Given the description of an element on the screen output the (x, y) to click on. 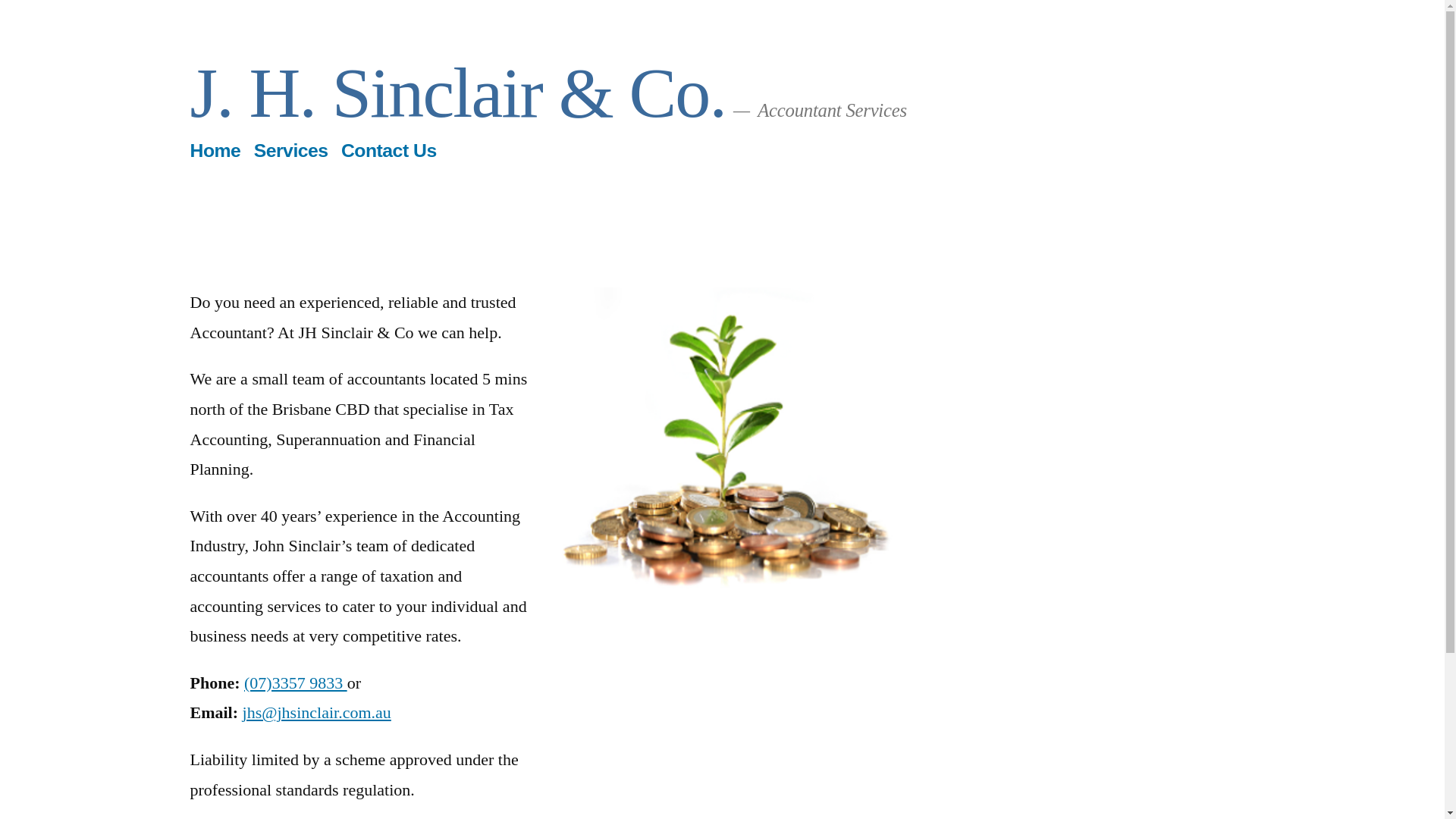
jhs@jhsinclair.com.au Element type: text (316, 711)
Home Element type: text (214, 150)
Services Element type: text (291, 150)
J. H. Sinclair & Co. Element type: text (457, 92)
(07)3357 9833 Element type: text (295, 682)
Contact Us Element type: text (388, 150)
